Given the description of an element on the screen output the (x, y) to click on. 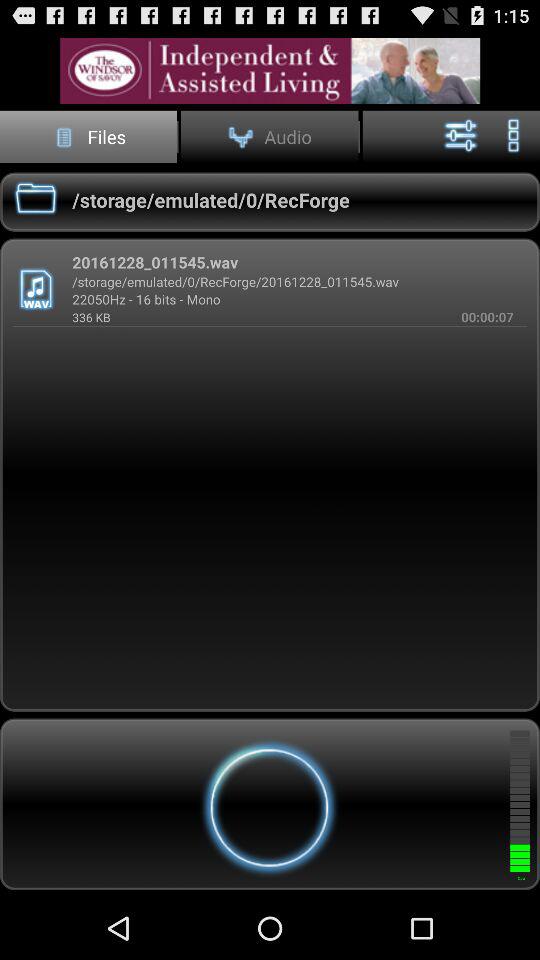
advertisement (270, 70)
